Given the description of an element on the screen output the (x, y) to click on. 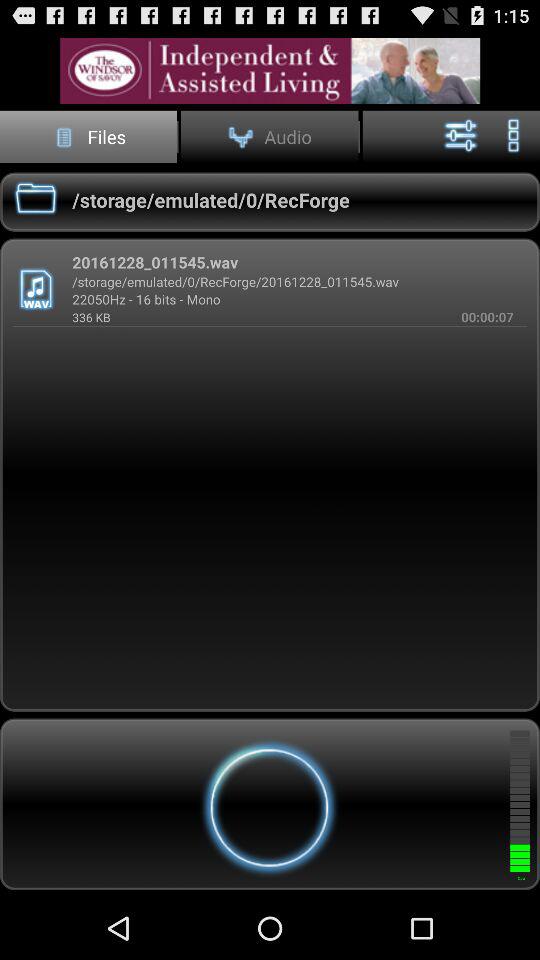
advertisement (270, 70)
